Given the description of an element on the screen output the (x, y) to click on. 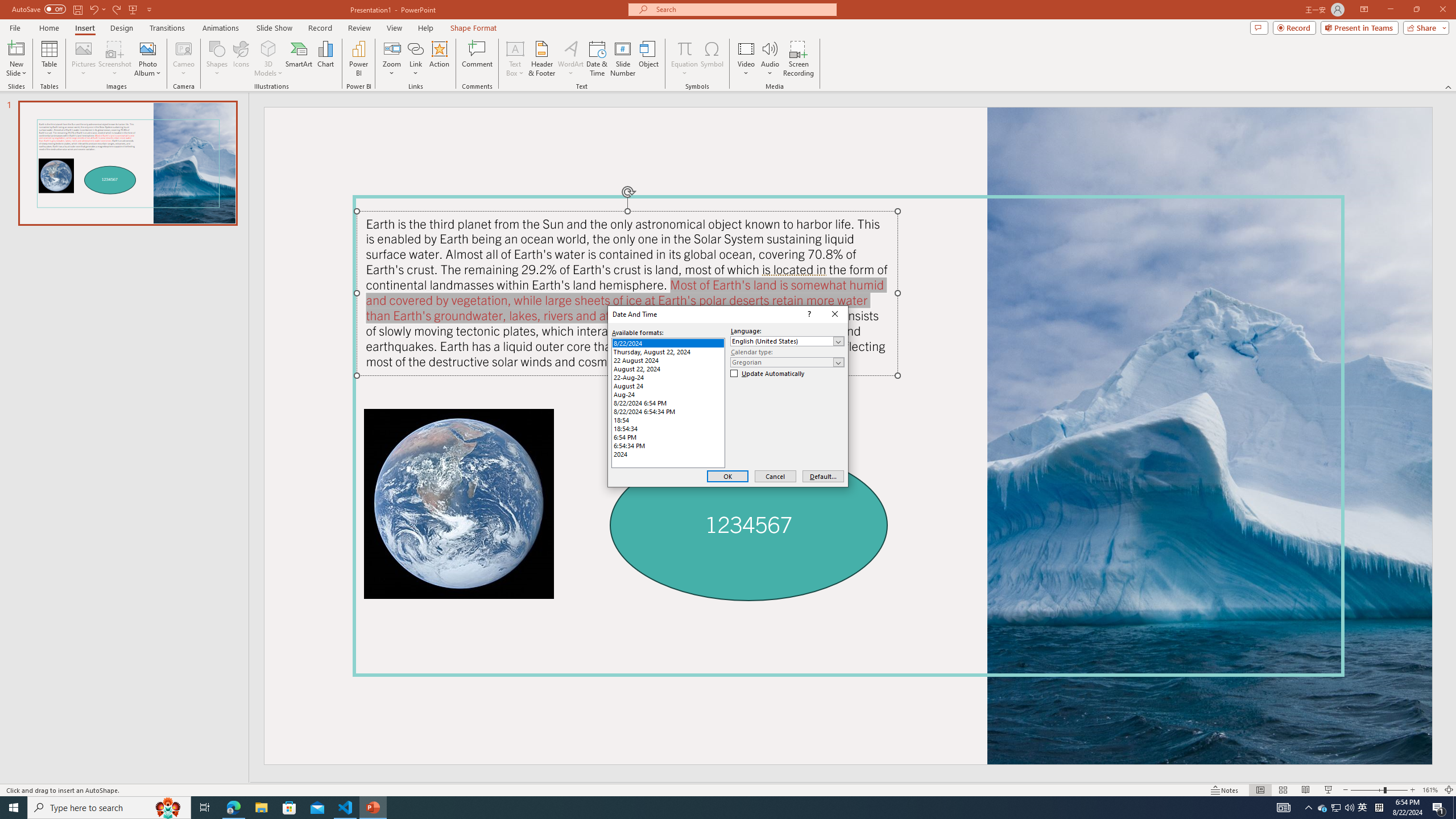
Chart... (325, 58)
Action (439, 58)
Date & Time... (596, 58)
18:54 (667, 420)
Photo Album... (147, 58)
Video (745, 58)
